Given the description of an element on the screen output the (x, y) to click on. 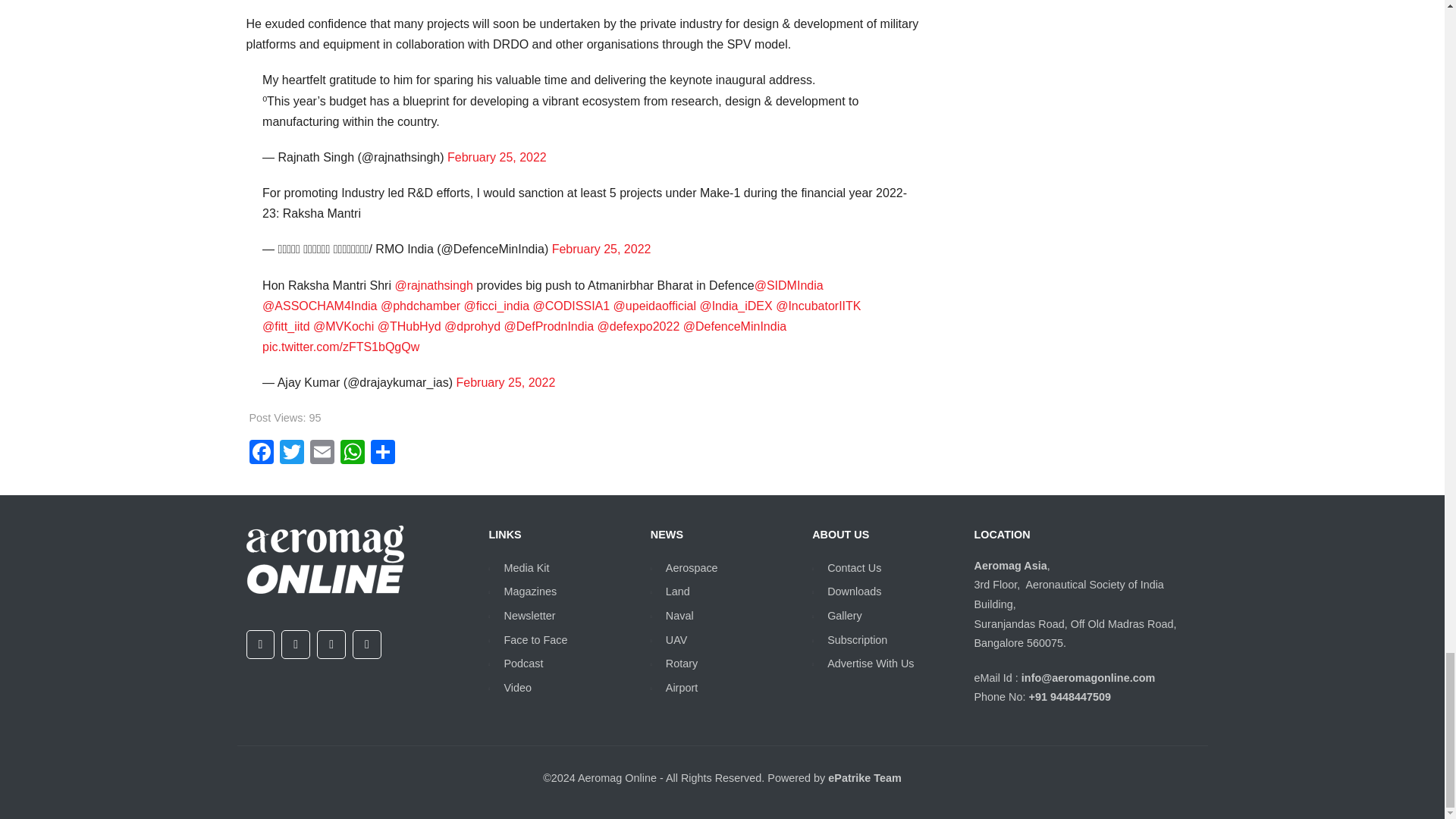
Twitter (290, 453)
Email (320, 453)
Facebook (261, 453)
